Given the description of an element on the screen output the (x, y) to click on. 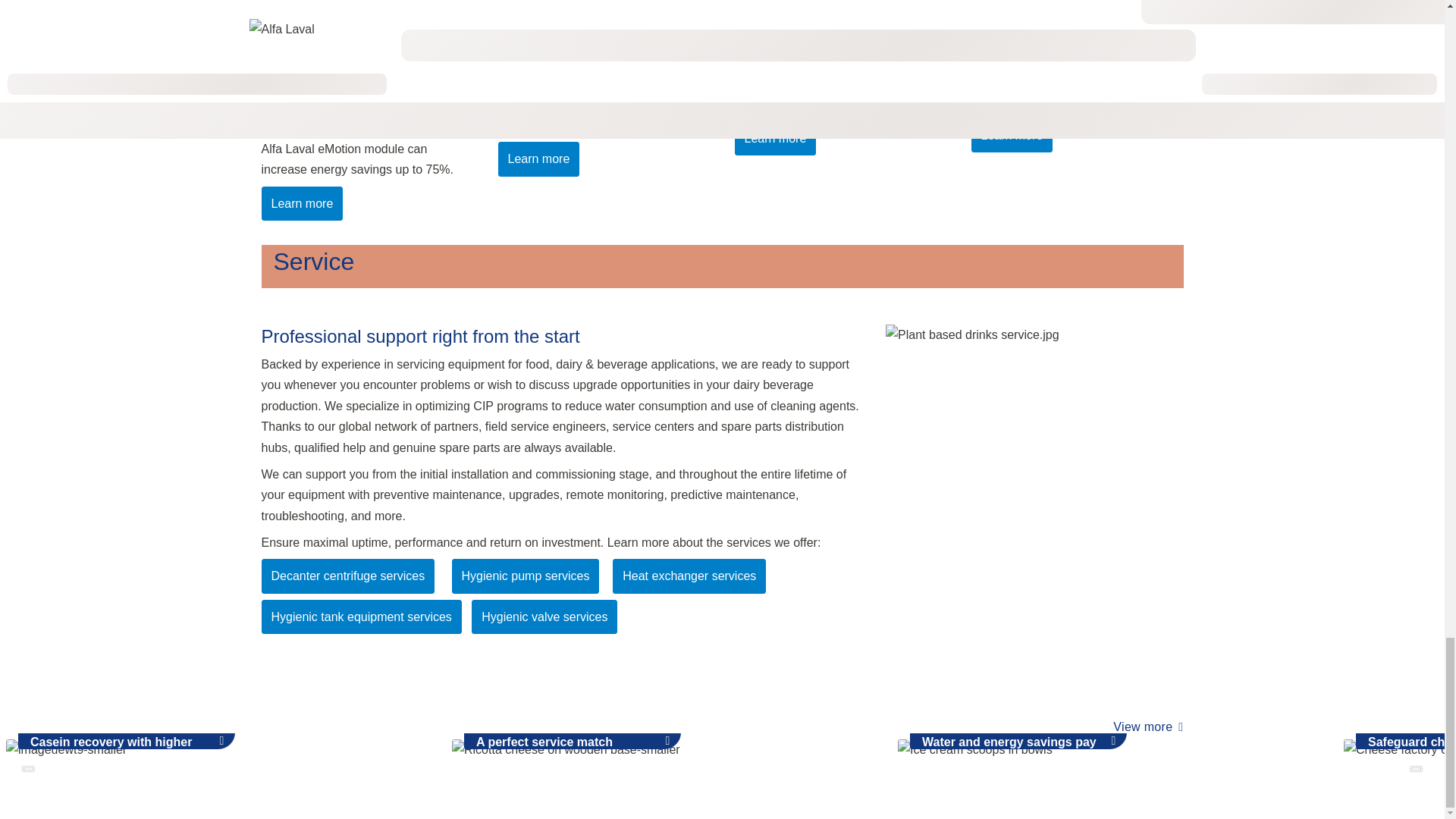
Hygienic pump services (525, 575)
Decanter centrifuge services (346, 575)
Hygienic valve services (544, 616)
Hygienic tank equipment services (360, 616)
A perfect service match (668, 753)
Learn more (774, 138)
Learn more (1011, 134)
Learn more (301, 203)
Heat exchanger services (688, 575)
Learn more (538, 158)
View more (1154, 727)
